Given the description of an element on the screen output the (x, y) to click on. 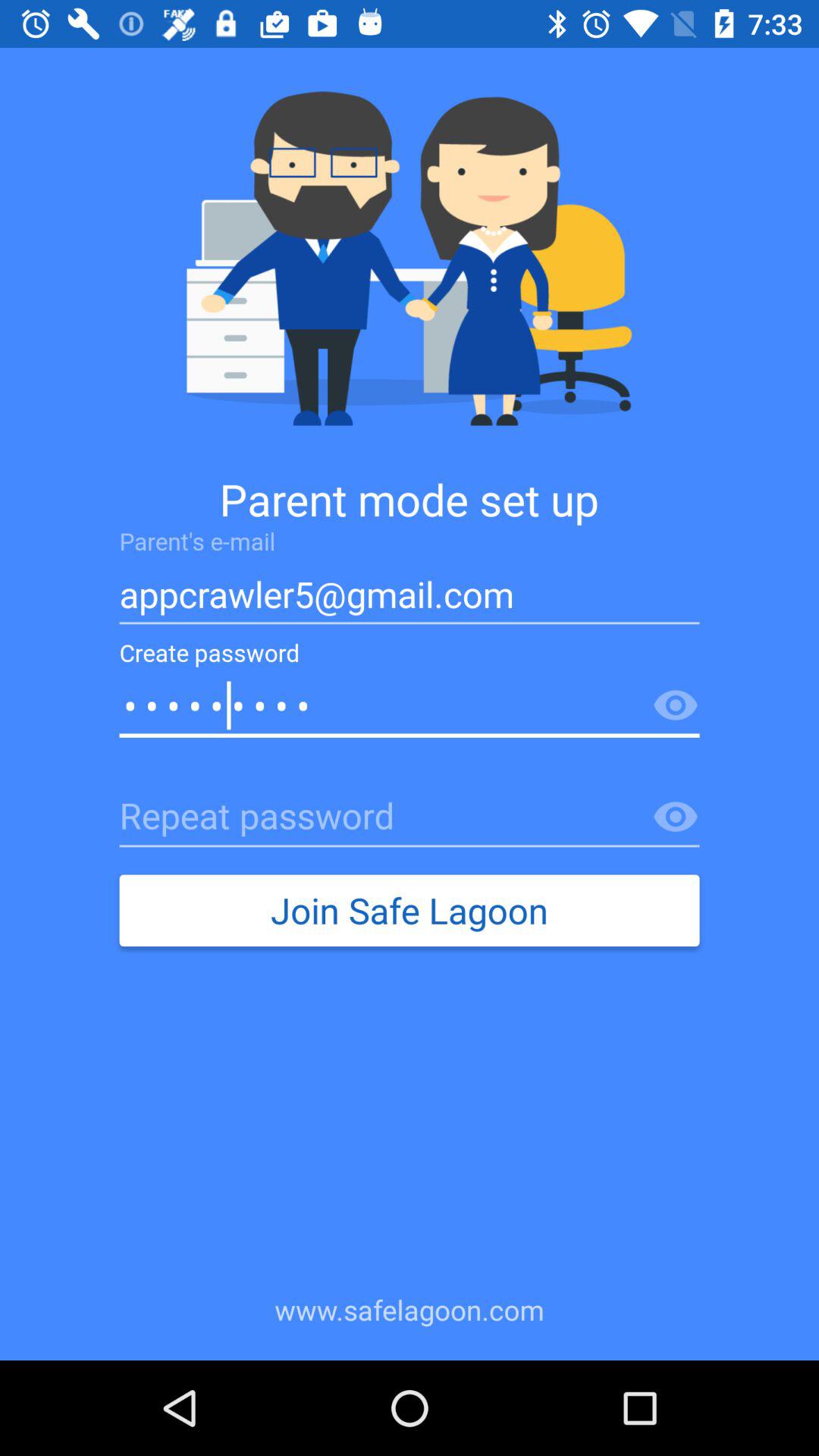
show password (675, 705)
